Given the description of an element on the screen output the (x, y) to click on. 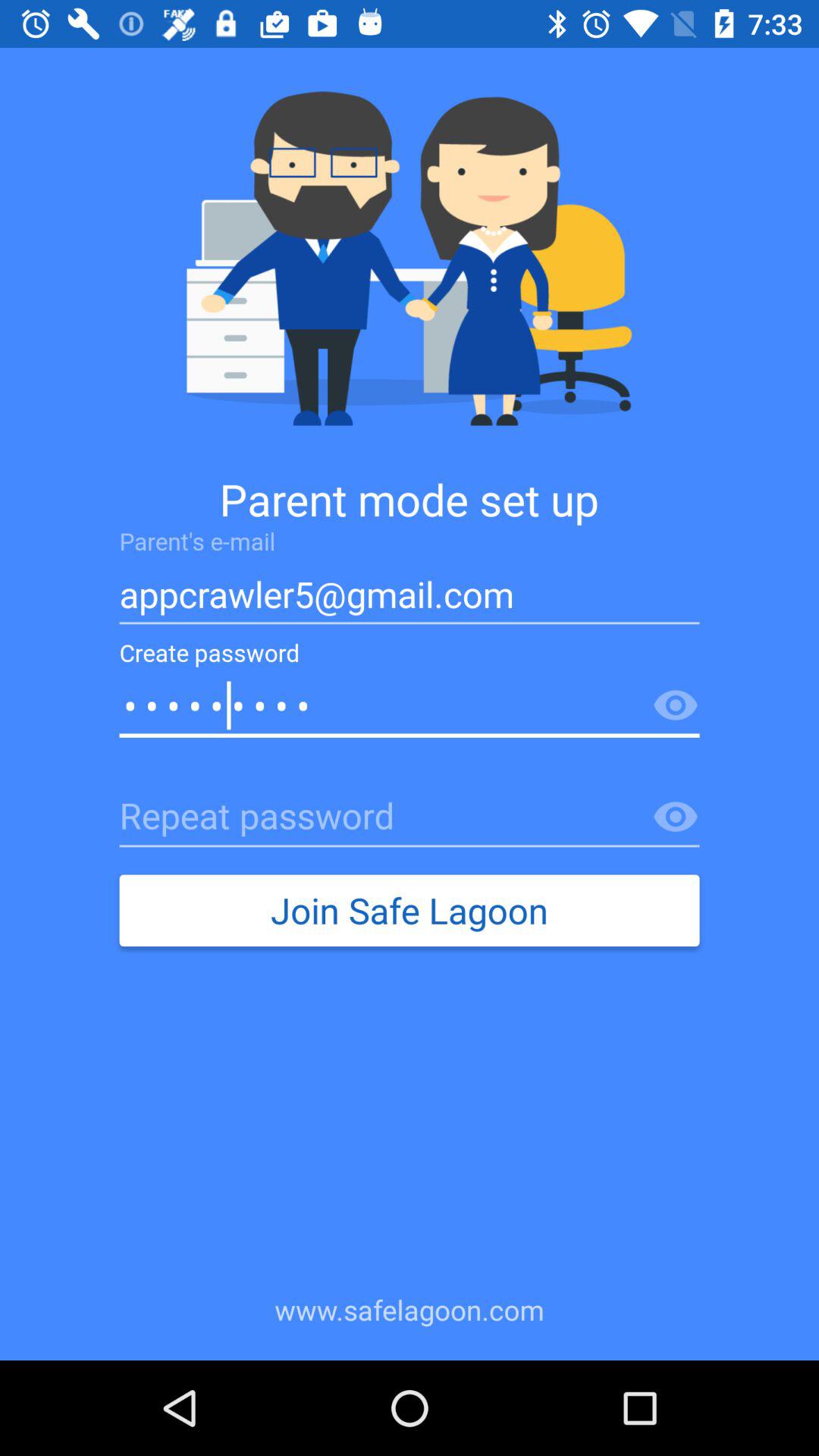
show password (675, 705)
